Given the description of an element on the screen output the (x, y) to click on. 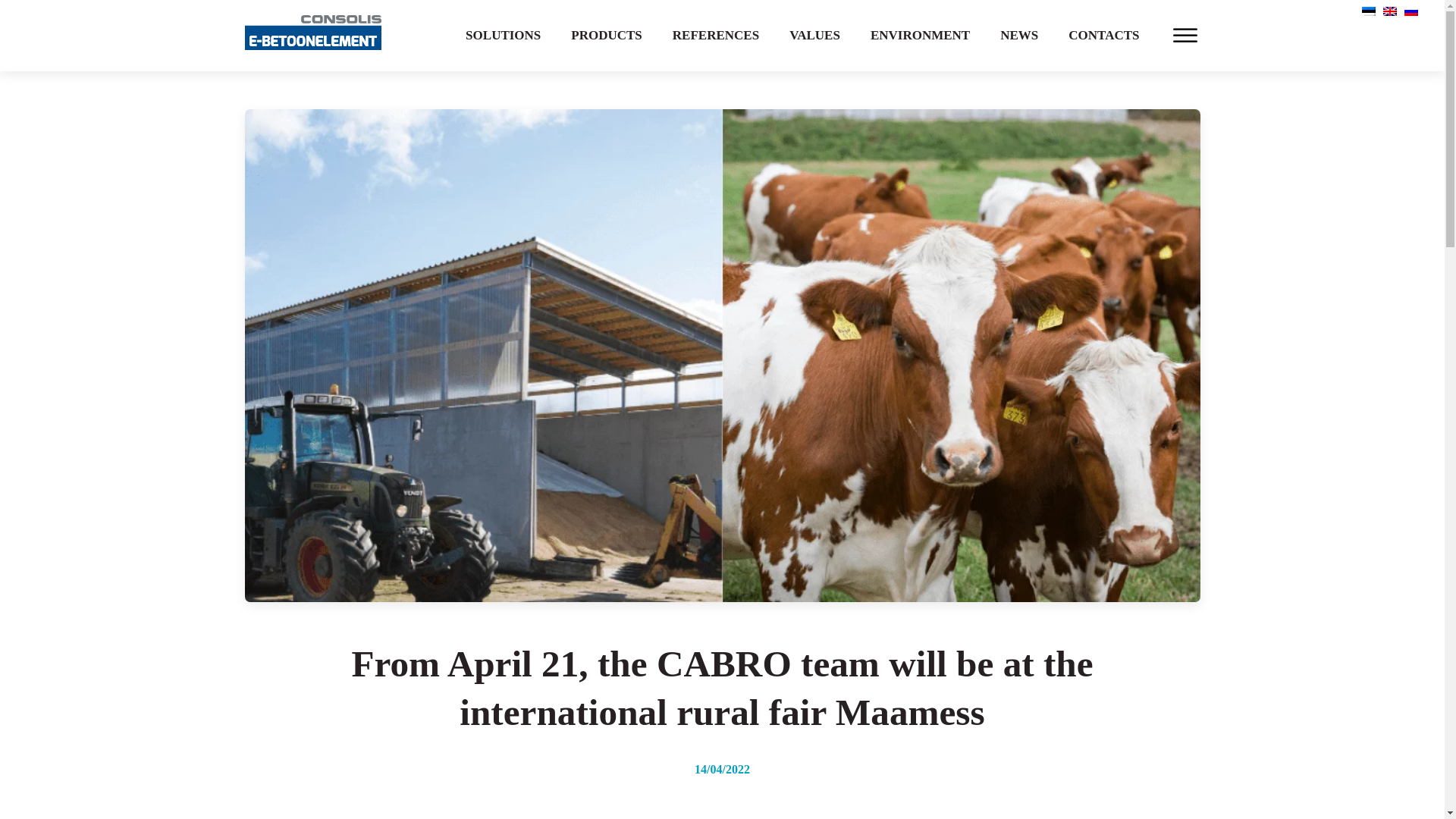
Russian (1411, 10)
English (1389, 10)
SOLUTIONS (502, 35)
REFERENCES (716, 35)
VALUES (815, 35)
Estonian (1368, 10)
NEWS (1018, 35)
PRODUCTS (607, 35)
CONTACTS (1103, 35)
ENVIRONMENT (920, 35)
